Given the description of an element on the screen output the (x, y) to click on. 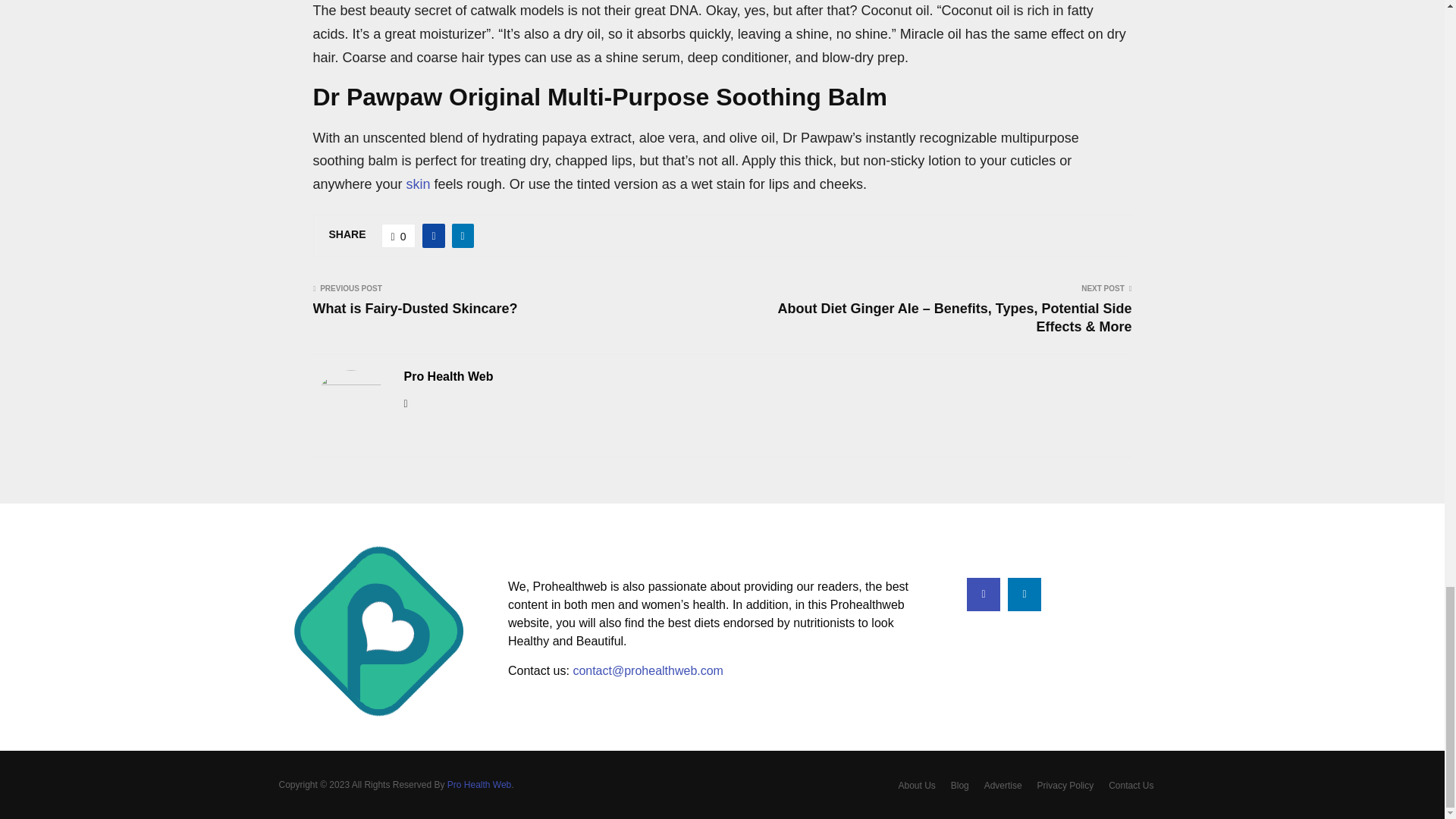
Like (398, 235)
skin (418, 183)
Facebook (983, 594)
Posts by Pro Health Web (448, 376)
0 (398, 235)
